Given the description of an element on the screen output the (x, y) to click on. 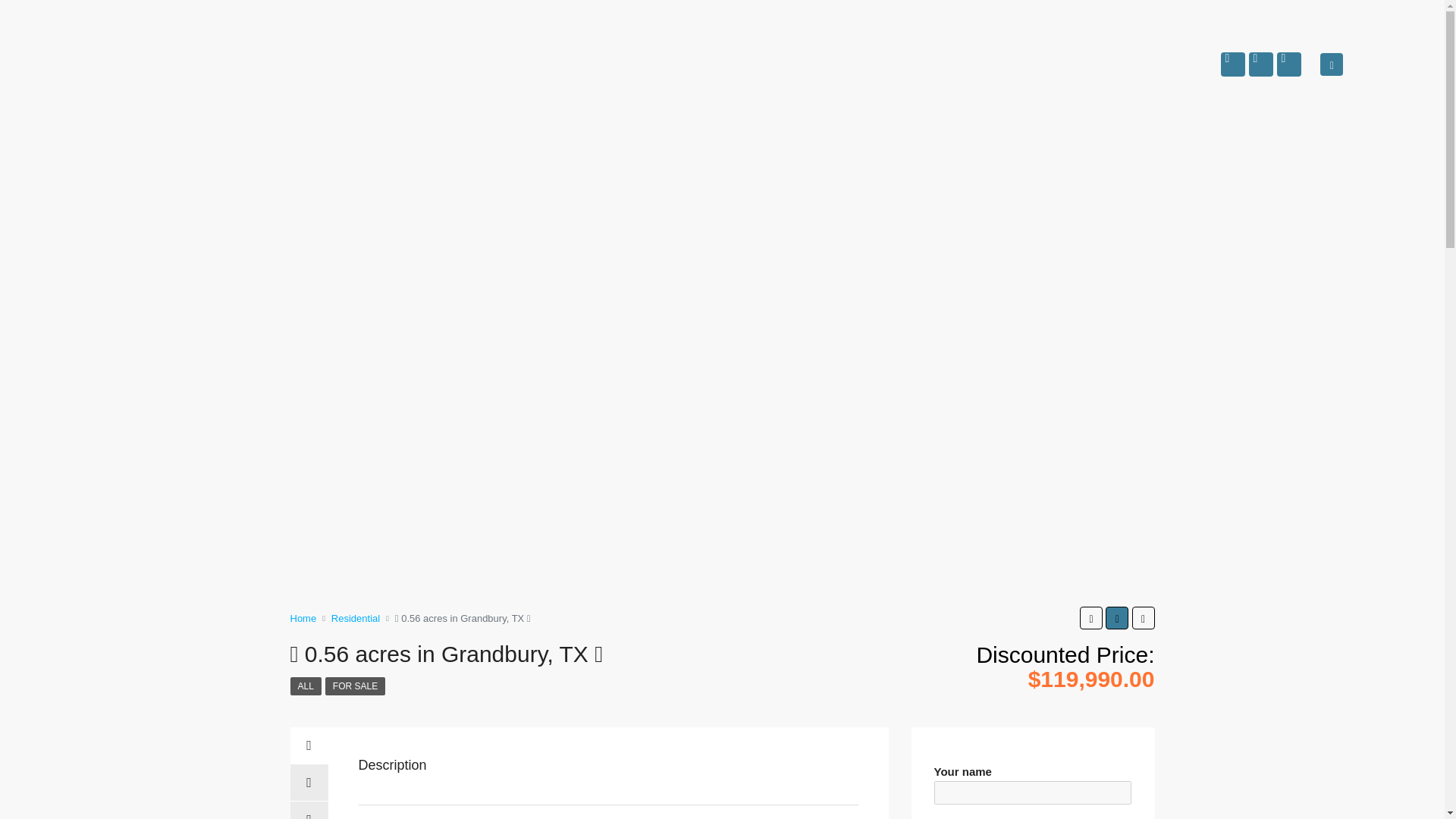
English (1370, 54)
Residential (355, 617)
Spanish (1370, 73)
Home (302, 617)
